Given the description of an element on the screen output the (x, y) to click on. 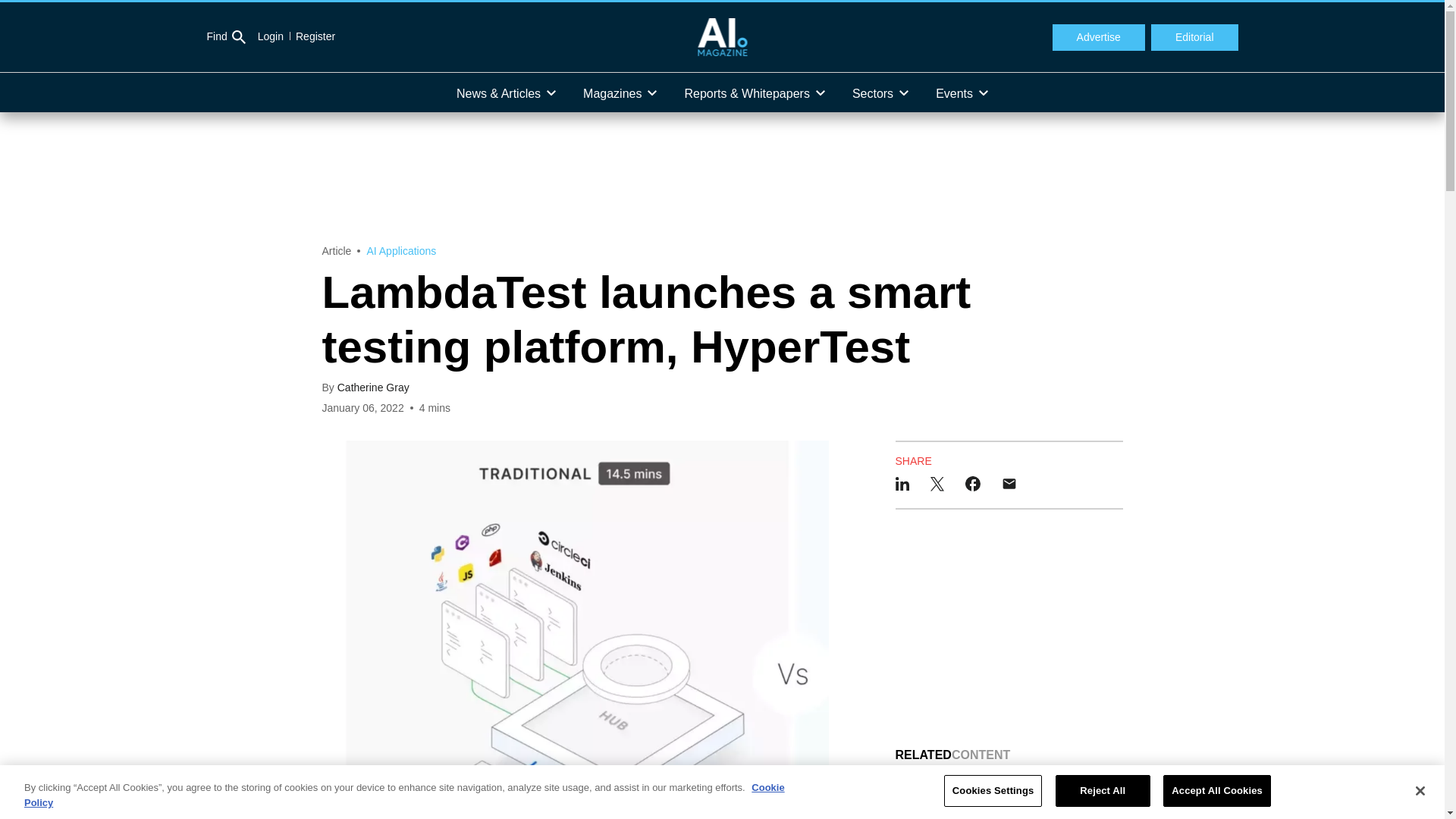
Sectors (879, 92)
Login (270, 37)
3rd party ad content (721, 178)
Register (308, 37)
Editorial (1195, 37)
Events (961, 92)
3rd party ad content (1008, 628)
Advertise (1098, 37)
Find (225, 37)
Magazines (619, 92)
